Given the description of an element on the screen output the (x, y) to click on. 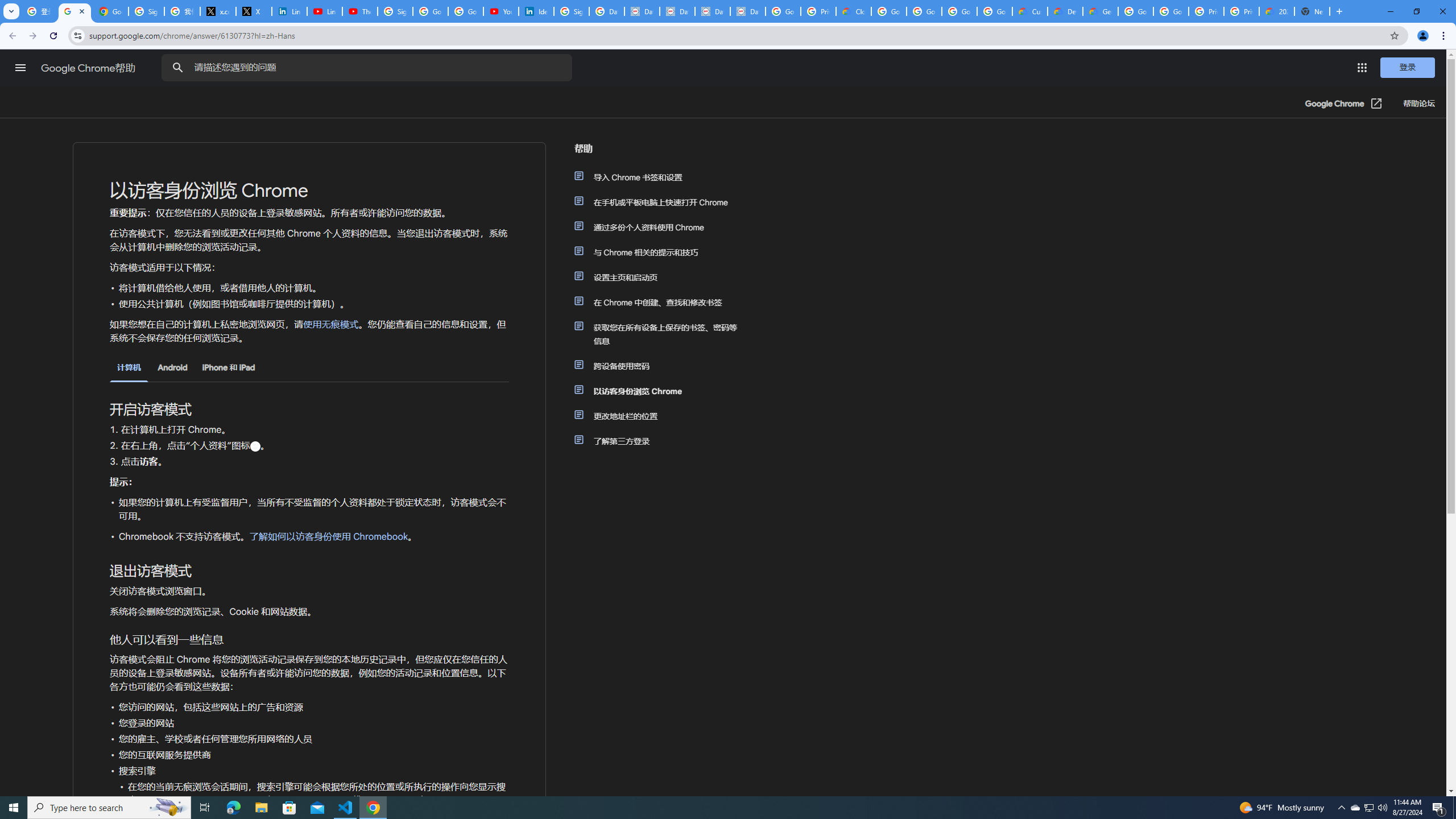
Google Cloud Platform (1170, 11)
Sign in - Google Accounts (571, 11)
Sign in - Google Accounts (145, 11)
X (253, 11)
